Given the description of an element on the screen output the (x, y) to click on. 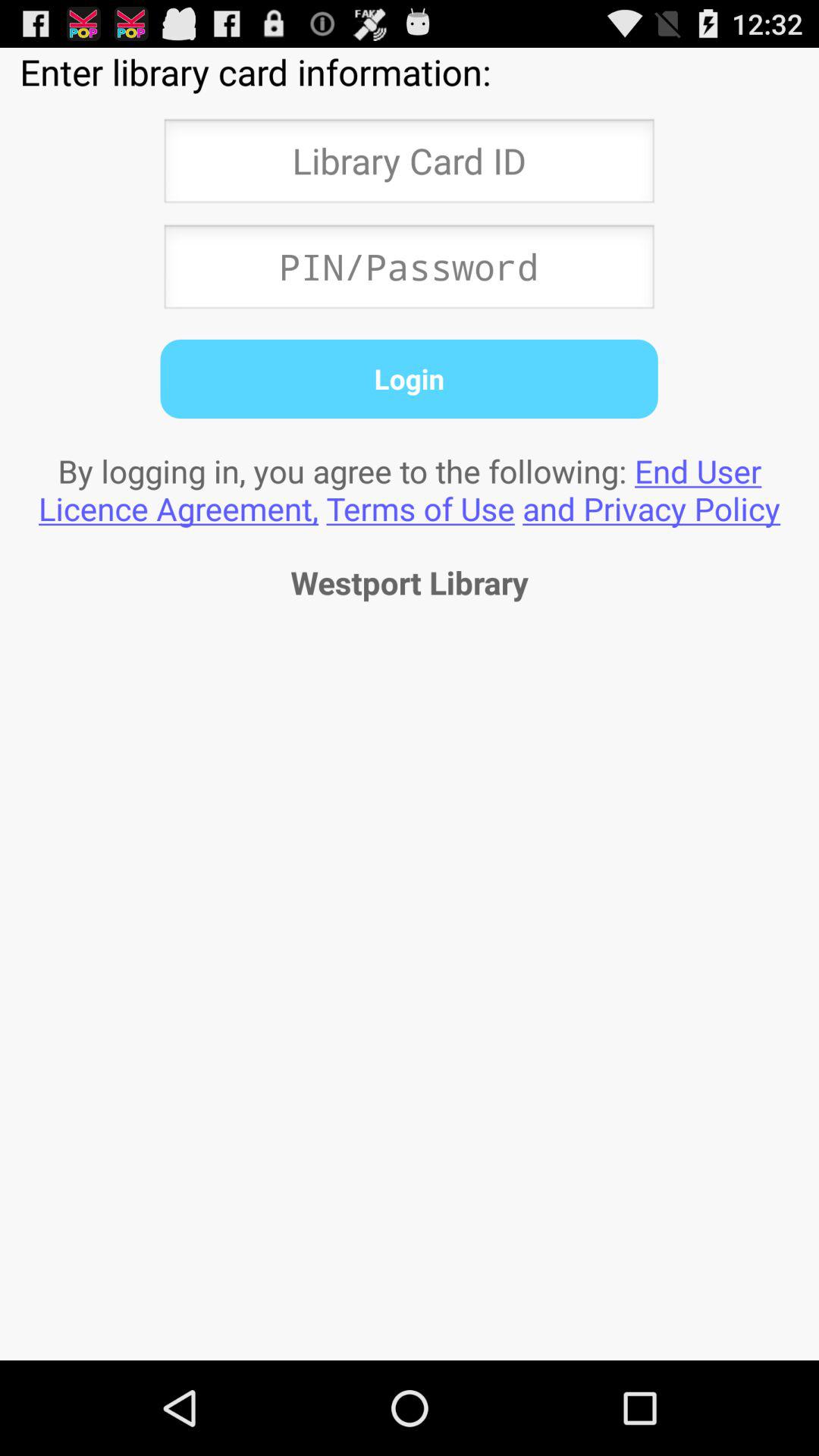
launch login (409, 378)
